Given the description of an element on the screen output the (x, y) to click on. 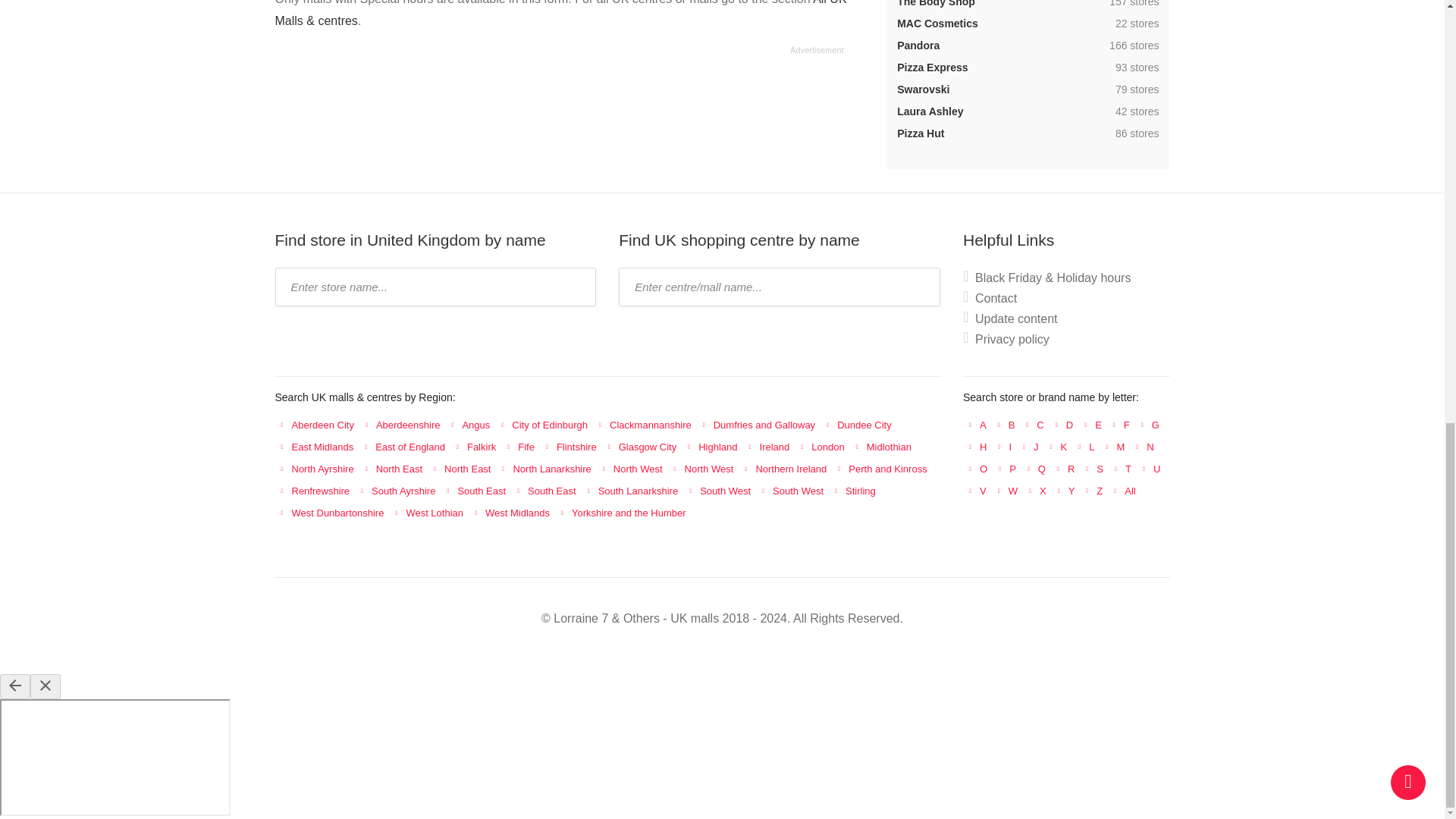
Pandora (917, 45)
MAC Cosmetics (937, 23)
The Body Shop (935, 3)
